Given the description of an element on the screen output the (x, y) to click on. 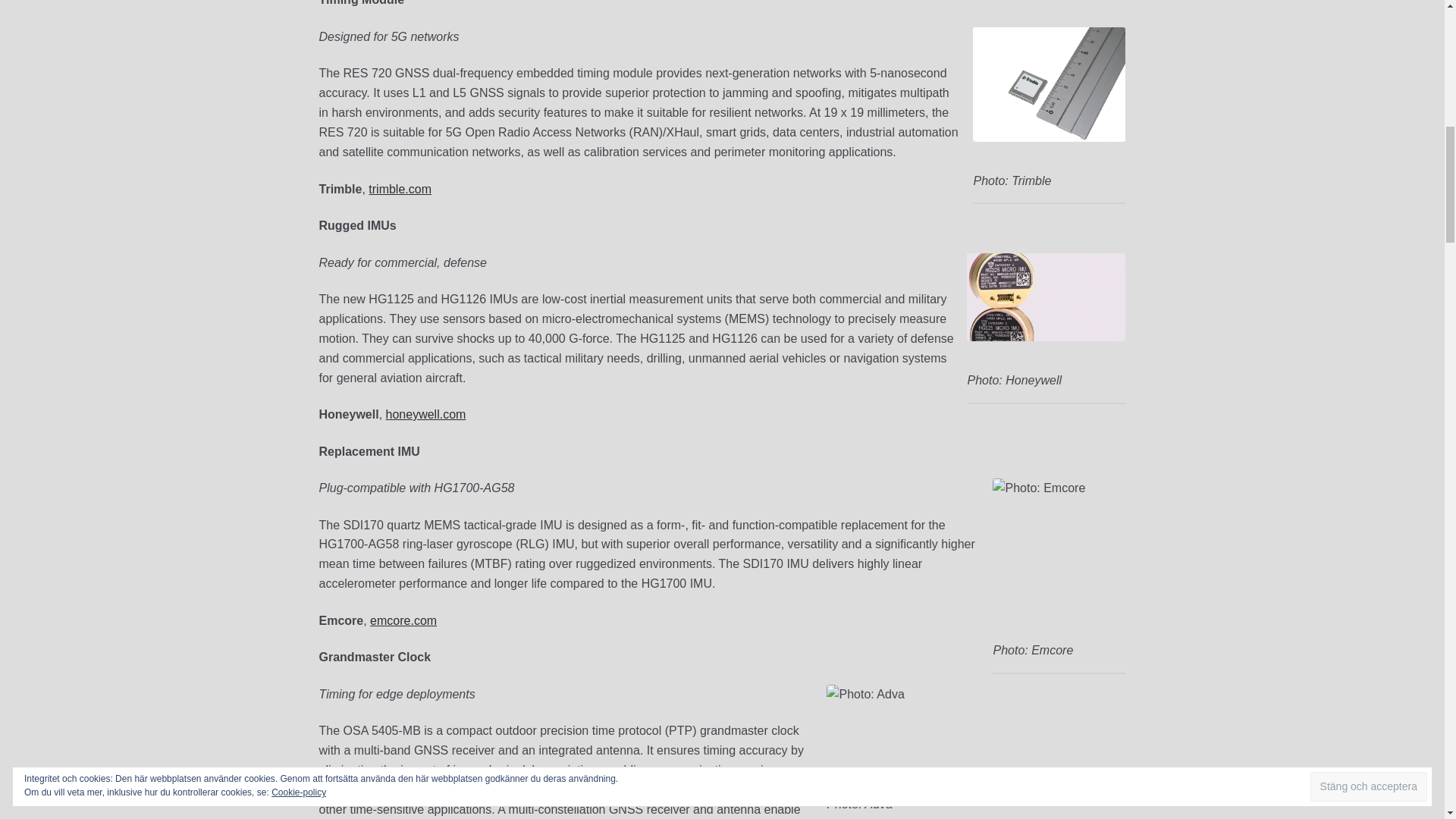
emcore.com (402, 620)
honeywell.com (425, 413)
trimble.com (399, 187)
